Given the description of an element on the screen output the (x, y) to click on. 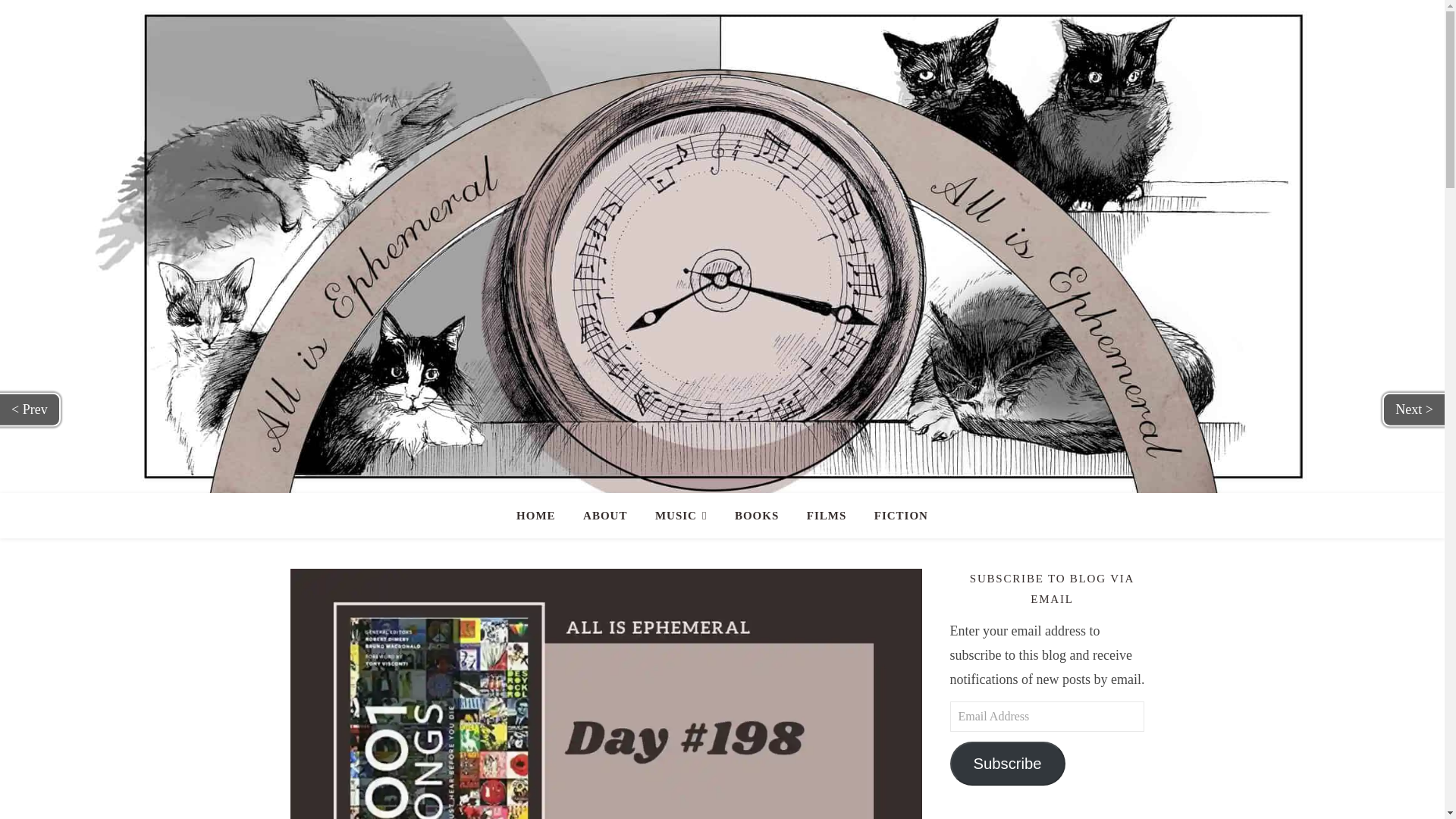
ABOUT (604, 515)
FILMS (826, 515)
BOOKS (756, 515)
HOME (541, 515)
FICTION (894, 515)
MUSIC (681, 515)
